Given the description of an element on the screen output the (x, y) to click on. 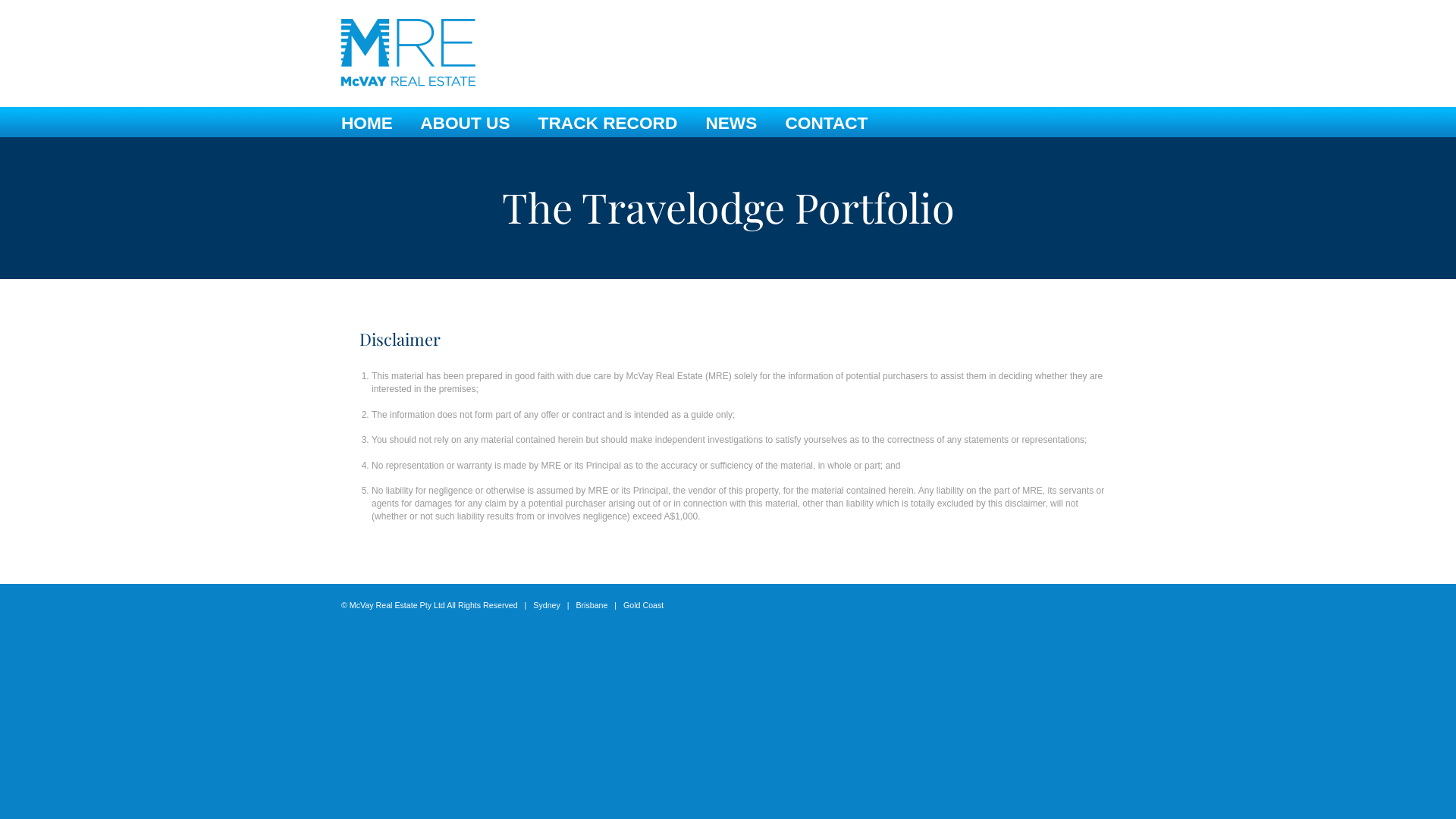
The Travelodge Portfolio Element type: text (728, 206)
HOME Element type: text (366, 122)
NEWS Element type: text (730, 122)
TRACK RECORD Element type: text (607, 122)
CONTACT Element type: text (825, 122)
ABOUT US Element type: text (464, 122)
